Given the description of an element on the screen output the (x, y) to click on. 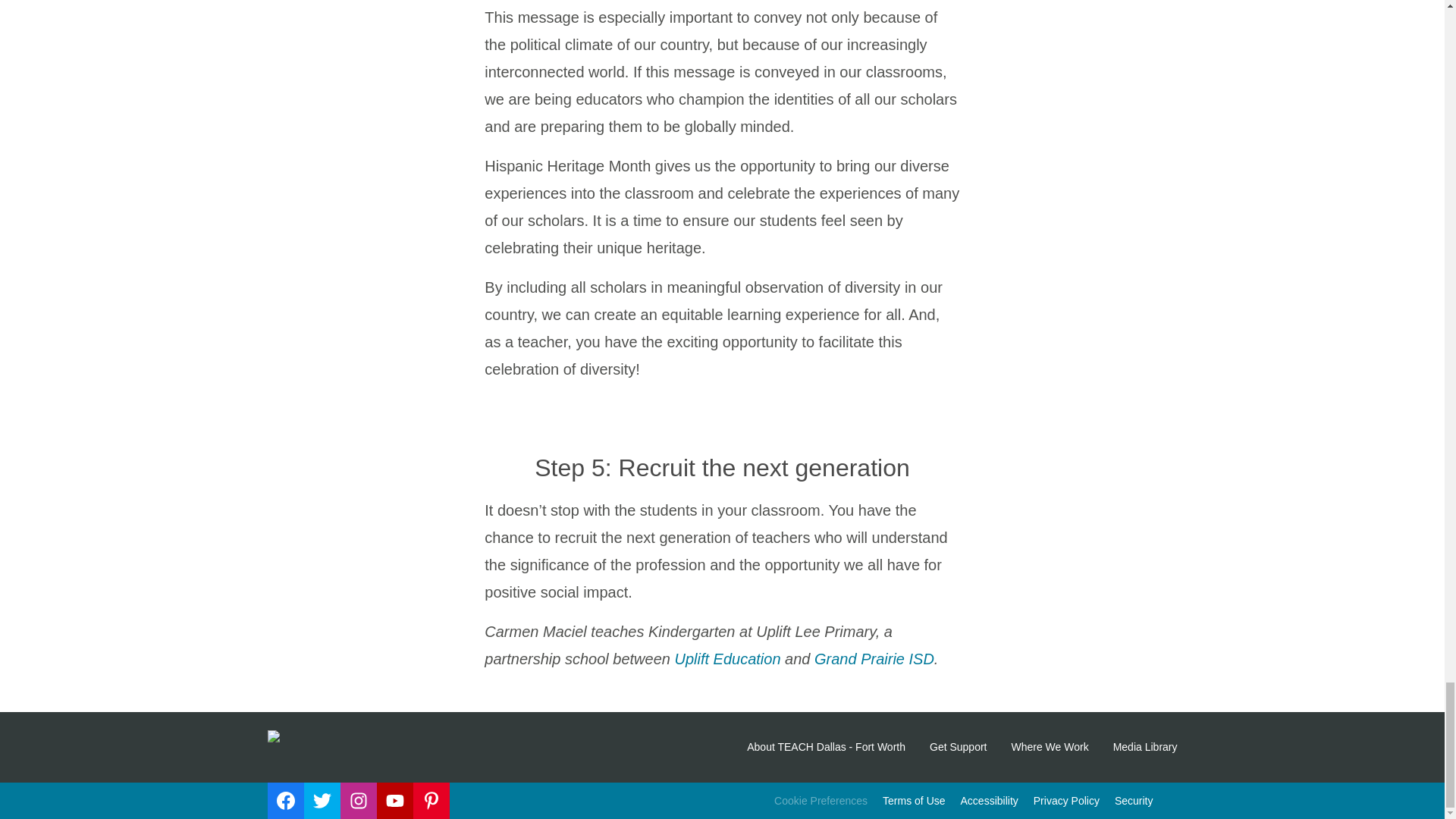
Grand Prairie ISD (873, 658)
Accessibility (988, 801)
Get Support (958, 747)
Security (1134, 801)
About TEACH Dallas - Fort Worth (825, 747)
Media Library (1145, 747)
Where We Work (1050, 747)
Terms of Use (913, 801)
Privacy Policy (1066, 801)
Uplift Education (727, 658)
